Given the description of an element on the screen output the (x, y) to click on. 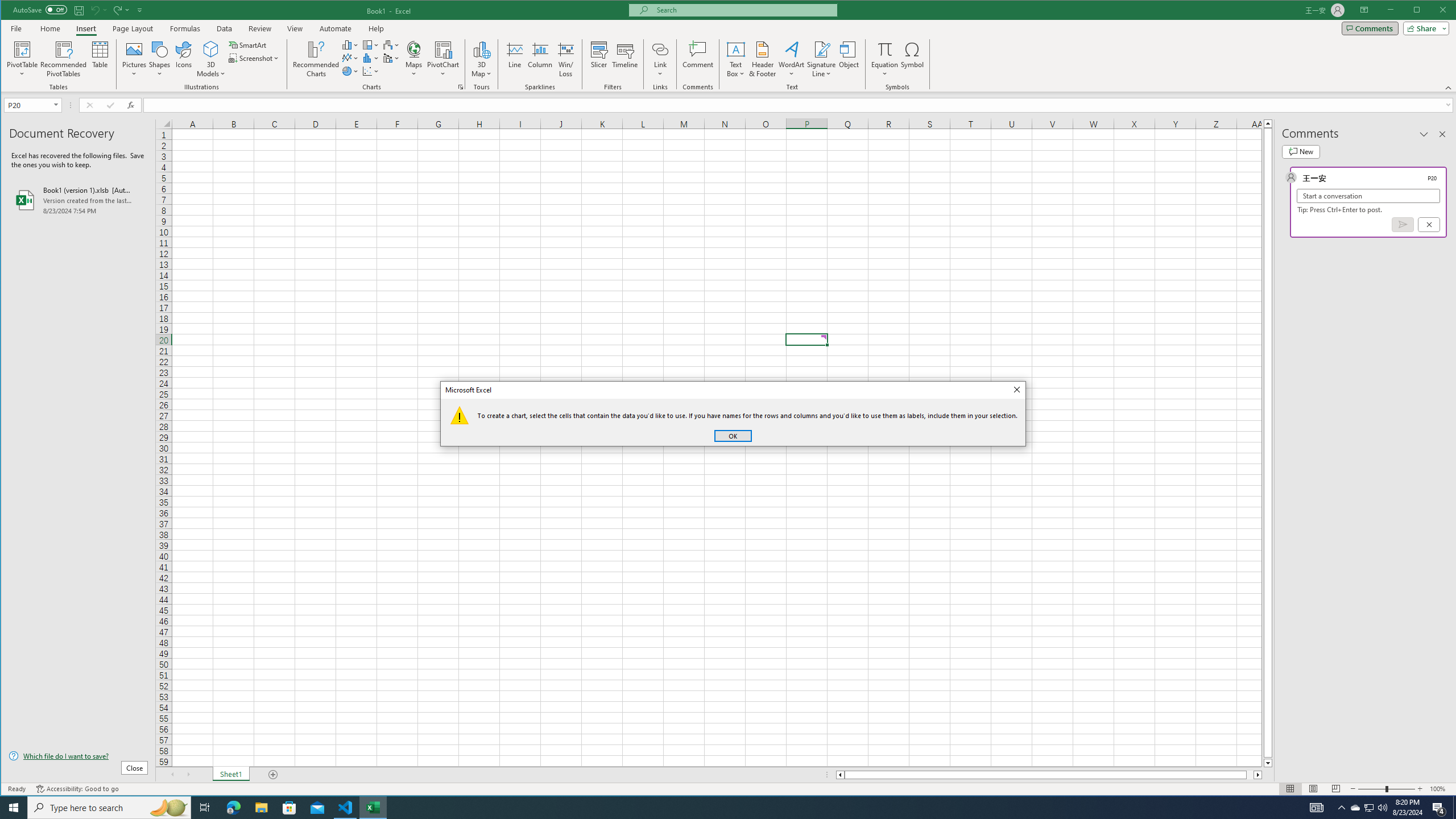
Which file do I want to save? (78, 755)
Line (514, 59)
Win/Loss (565, 59)
Pictures (134, 59)
Start (13, 807)
Microsoft Store (289, 807)
Share (1423, 27)
View (294, 28)
File Explorer (261, 807)
WordArt (791, 59)
PivotChart (443, 48)
Recommended PivotTables (63, 59)
Search highlights icon opens search home window (167, 807)
